Given the description of an element on the screen output the (x, y) to click on. 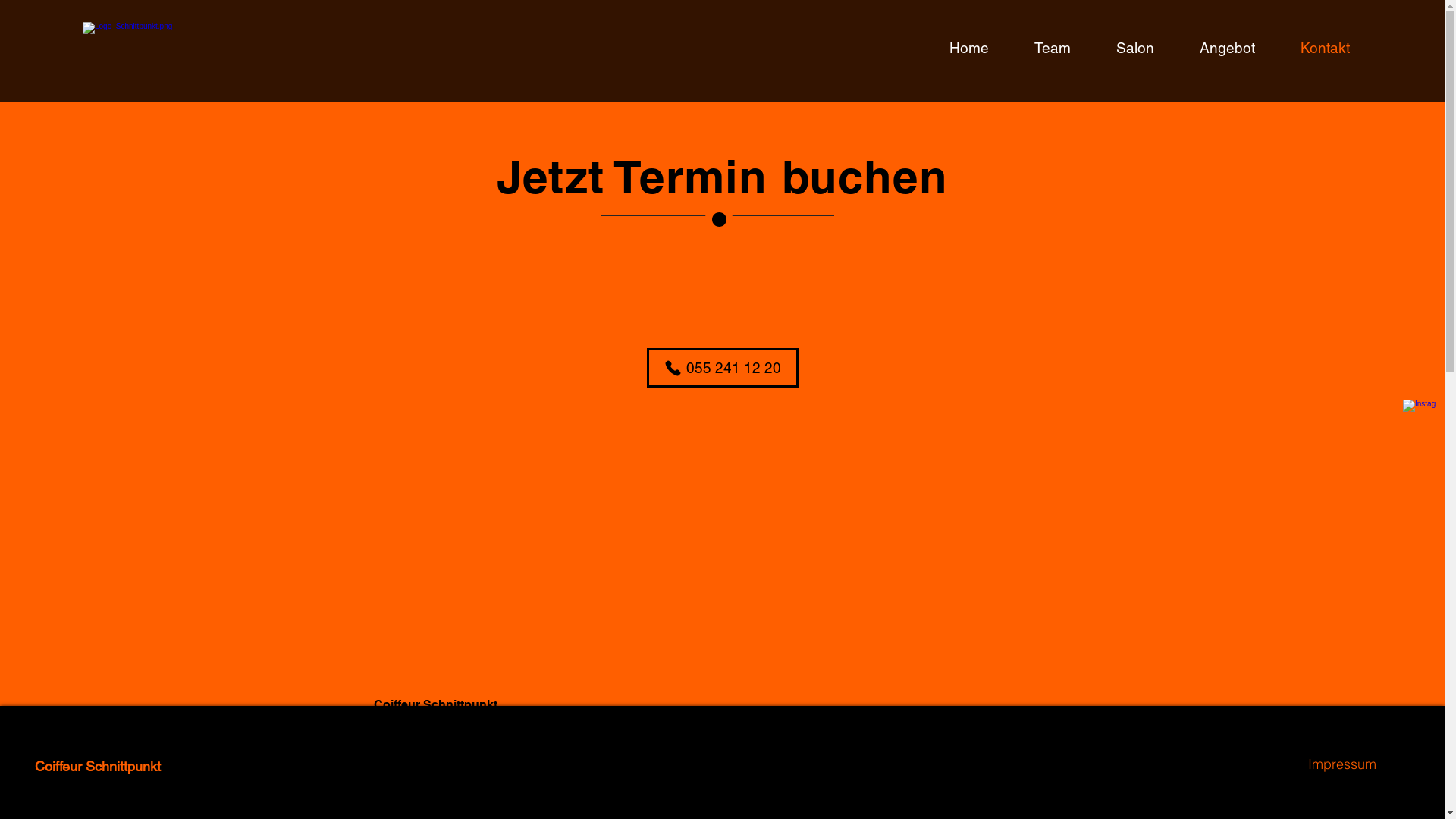
055 241 12 20 Element type: text (721, 367)
Angebot Element type: text (1215, 47)
055 241 12 20 Element type: text (411, 791)
Salon Element type: text (1123, 47)
Home Element type: text (957, 47)
Impressum Element type: text (1342, 763)
Kontakt Element type: text (1313, 47)
Team Element type: text (1041, 47)
